Given the description of an element on the screen output the (x, y) to click on. 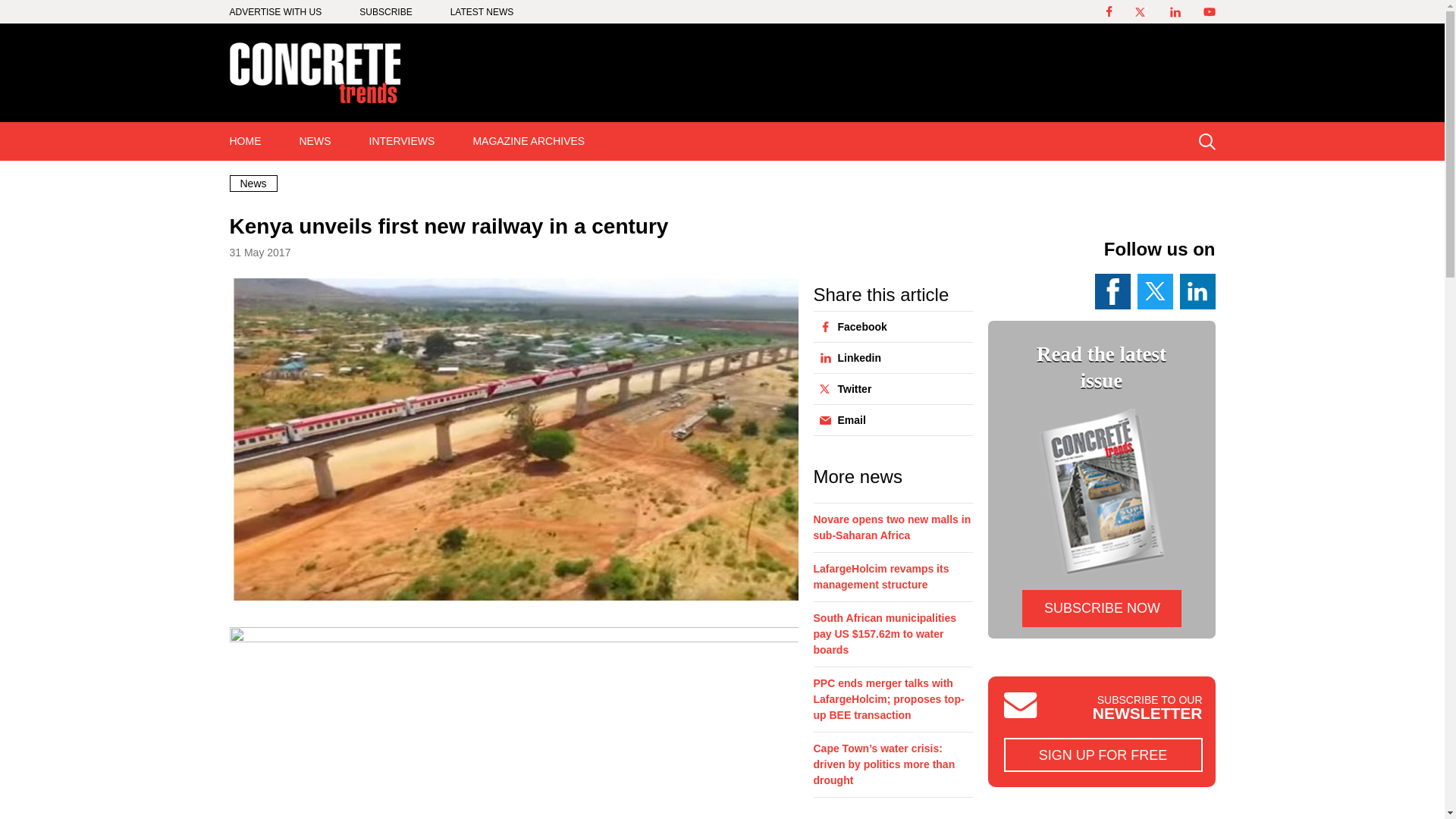
Share by Email (887, 419)
Email (887, 419)
LATEST NEWS (481, 11)
ADVERTISE WITH US (274, 11)
INTERVIEWS (402, 141)
SUBSCRIBE NOW (1101, 608)
Twitter (887, 388)
Linkedin (887, 358)
LafargeHolcim revamps its management structure (892, 581)
